Given the description of an element on the screen output the (x, y) to click on. 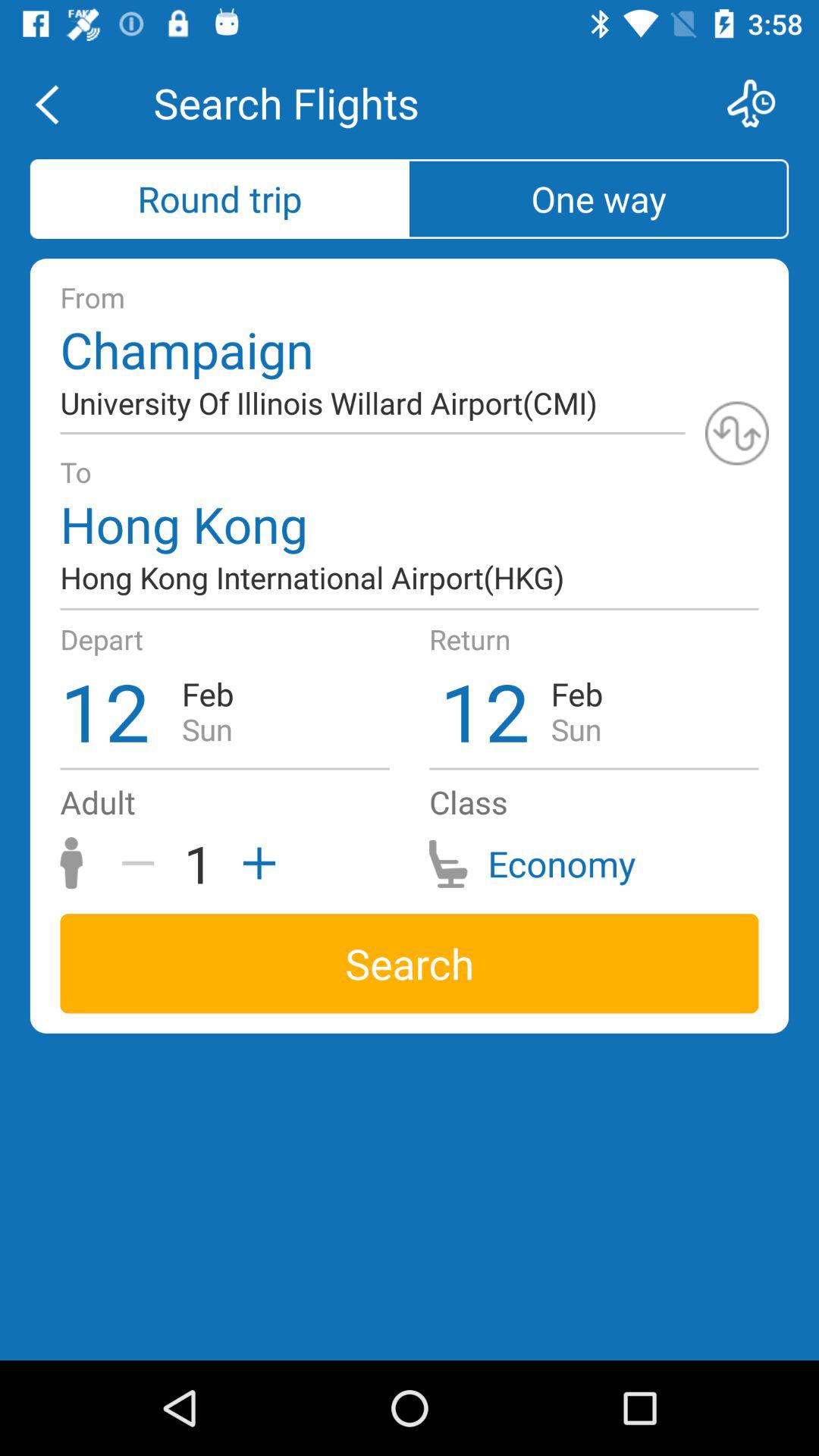
toggle the number of adults reduction (143, 863)
